Given the description of an element on the screen output the (x, y) to click on. 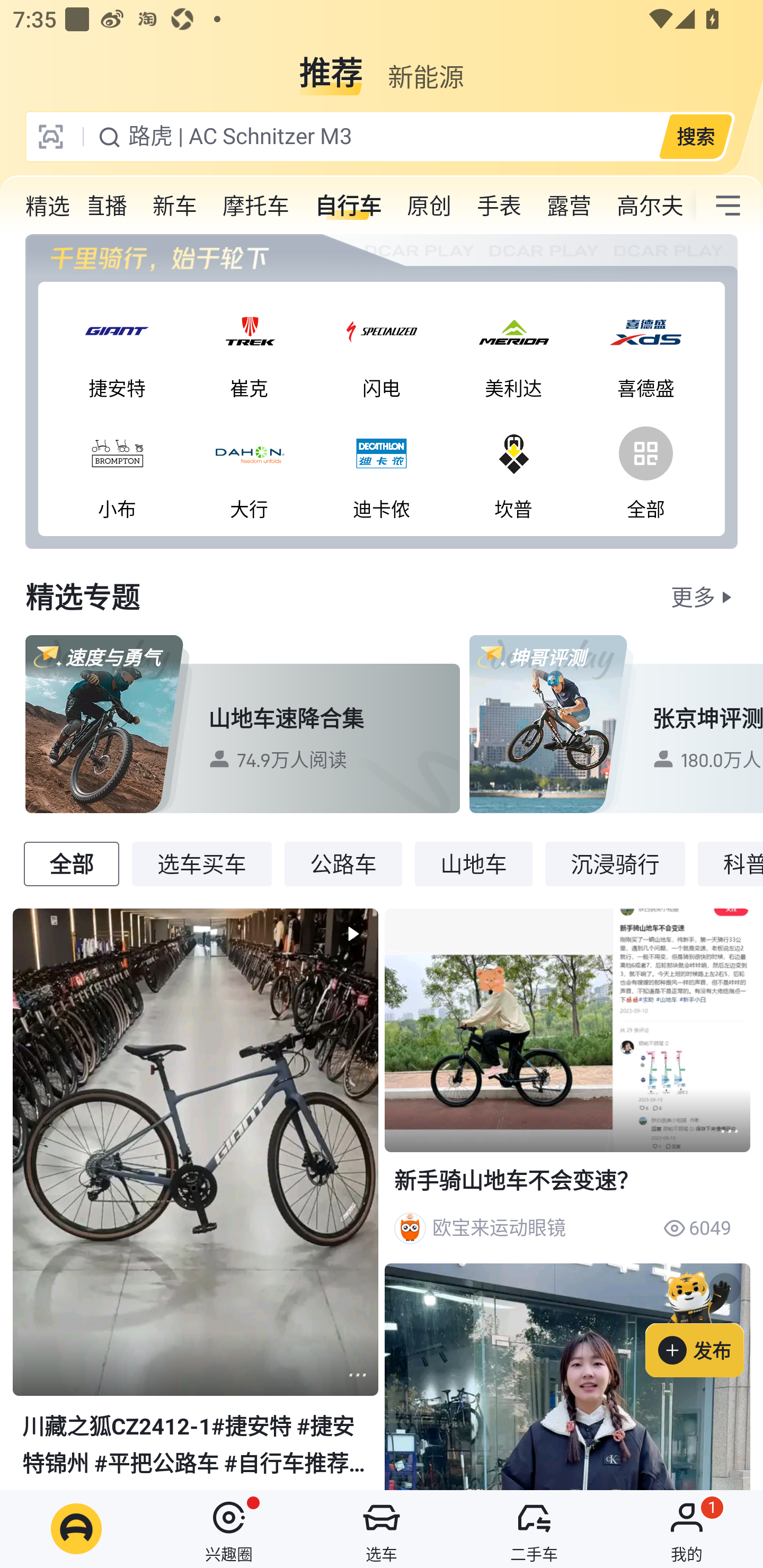
推荐 (330, 65)
新能源 (425, 65)
搜索 (695, 136)
直播 (93, 205)
新车 (174, 205)
摩托车 (255, 205)
自行车 (348, 205)
原创 (428, 205)
手表 (498, 205)
露营 (569, 205)
高尔夫 (649, 205)
 (727, 205)
精选 (47, 206)
捷安特 (117, 348)
崔克 (249, 348)
闪电 (381, 348)
美利达 (513, 348)
喜德盛 (645, 348)
小布 (117, 469)
大行 (249, 469)
迪卡侬 (381, 469)
坎普 (513, 469)
全部 (645, 469)
更多  (703, 596)
速度与勇气 山地车速降合集  74.9万人阅读 (242, 724)
坤哥评测 张京坤评测自行车  180.0万人阅读 (616, 724)
全部 (71, 863)
选车买车 (201, 863)
公路车 (343, 863)
山地车 (473, 863)
沉浸骑行 (615, 863)
科普教学 (730, 863)
  川藏之狐CZ2412-1#捷安特 #捷安特锦州 #平把公路车 #自行车推荐 #爱生活爱骑行 (195, 1198)
 新手骑山地车不会变速？ 欧宝来运动眼镜 < >6049 (567, 1082)
 (729, 1132)
 (567, 1376)
发布 (704, 1320)
 (357, 1375)
 兴趣圈 (228, 1528)
 选车 (381, 1528)
 二手车 (533, 1528)
 我的 (686, 1528)
